Given the description of an element on the screen output the (x, y) to click on. 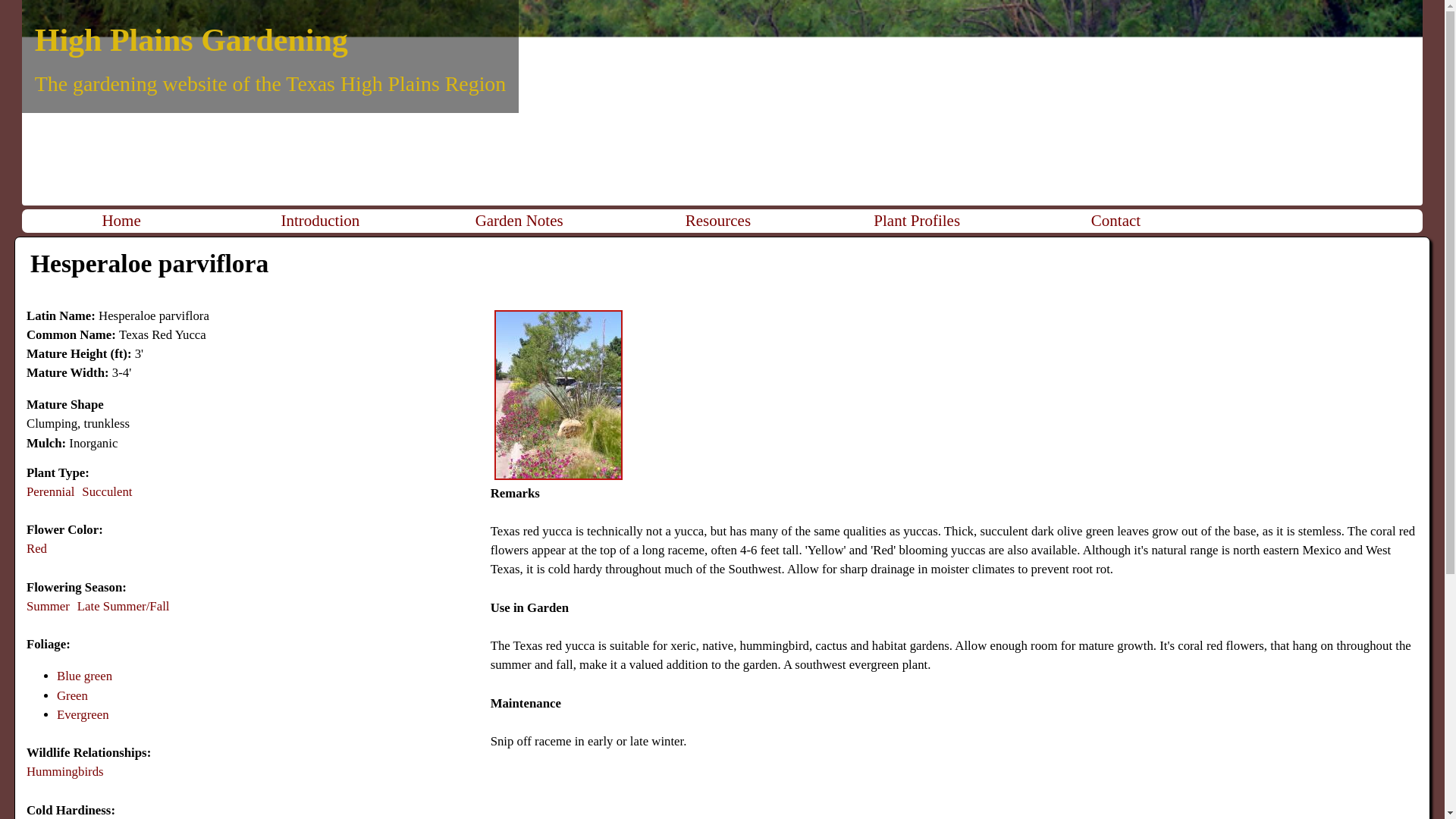
Evergreen (82, 714)
Summer (47, 605)
Succulent (106, 491)
Resources (717, 221)
Plant Profiles (916, 221)
Garden Notes (519, 221)
Green (71, 695)
Perennial (50, 491)
Introduction (320, 221)
Blue green (84, 676)
